Given the description of an element on the screen output the (x, y) to click on. 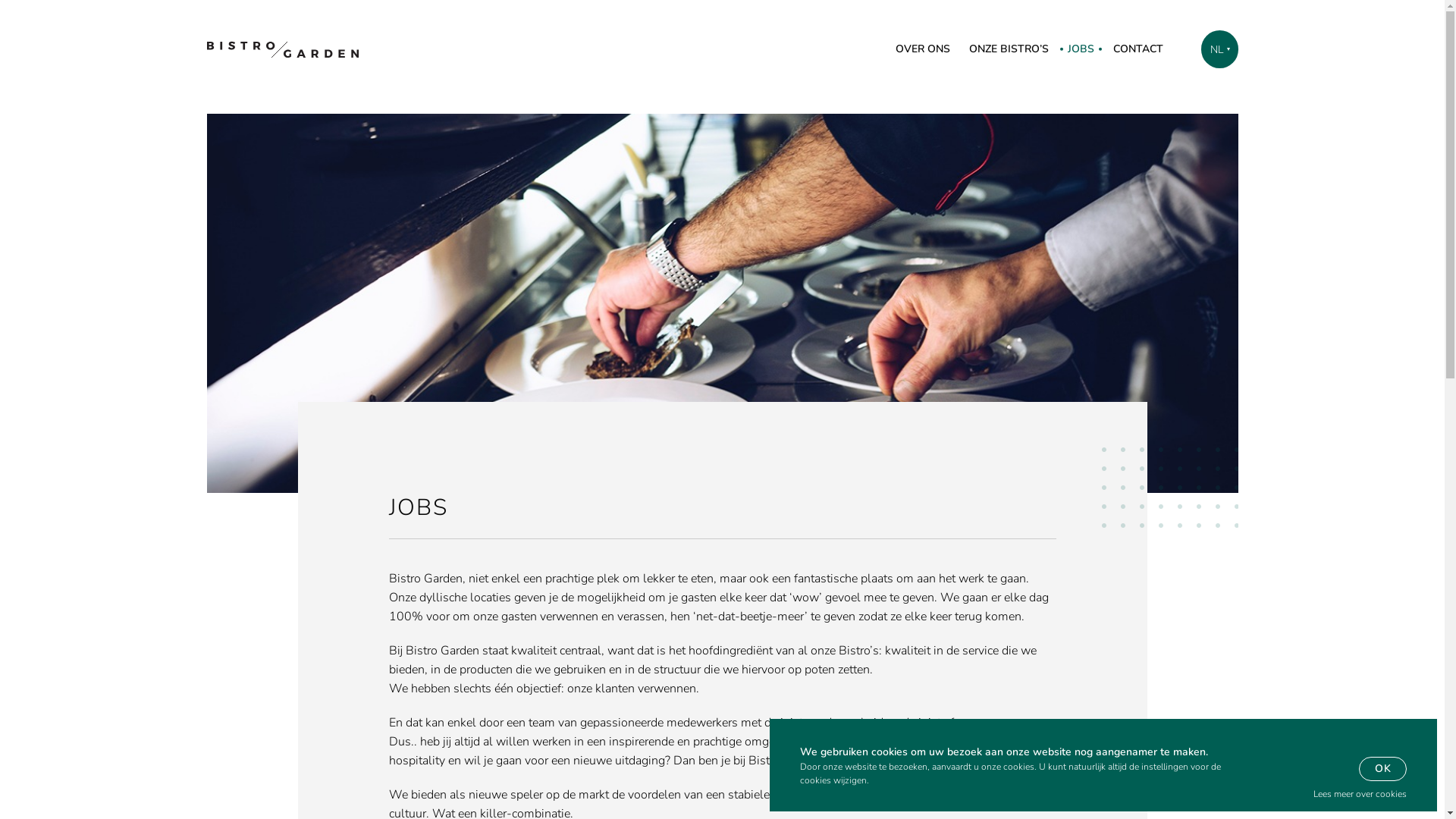
OK Element type: text (1382, 768)
Bistro Garden - Element type: text (281, 49)
JOBS Element type: text (1080, 48)
CONTACT Element type: text (1138, 48)
Lees meer over cookies Element type: text (1359, 793)
NL Element type: text (1219, 49)
OVER ONS Element type: text (921, 48)
